Given the description of an element on the screen output the (x, y) to click on. 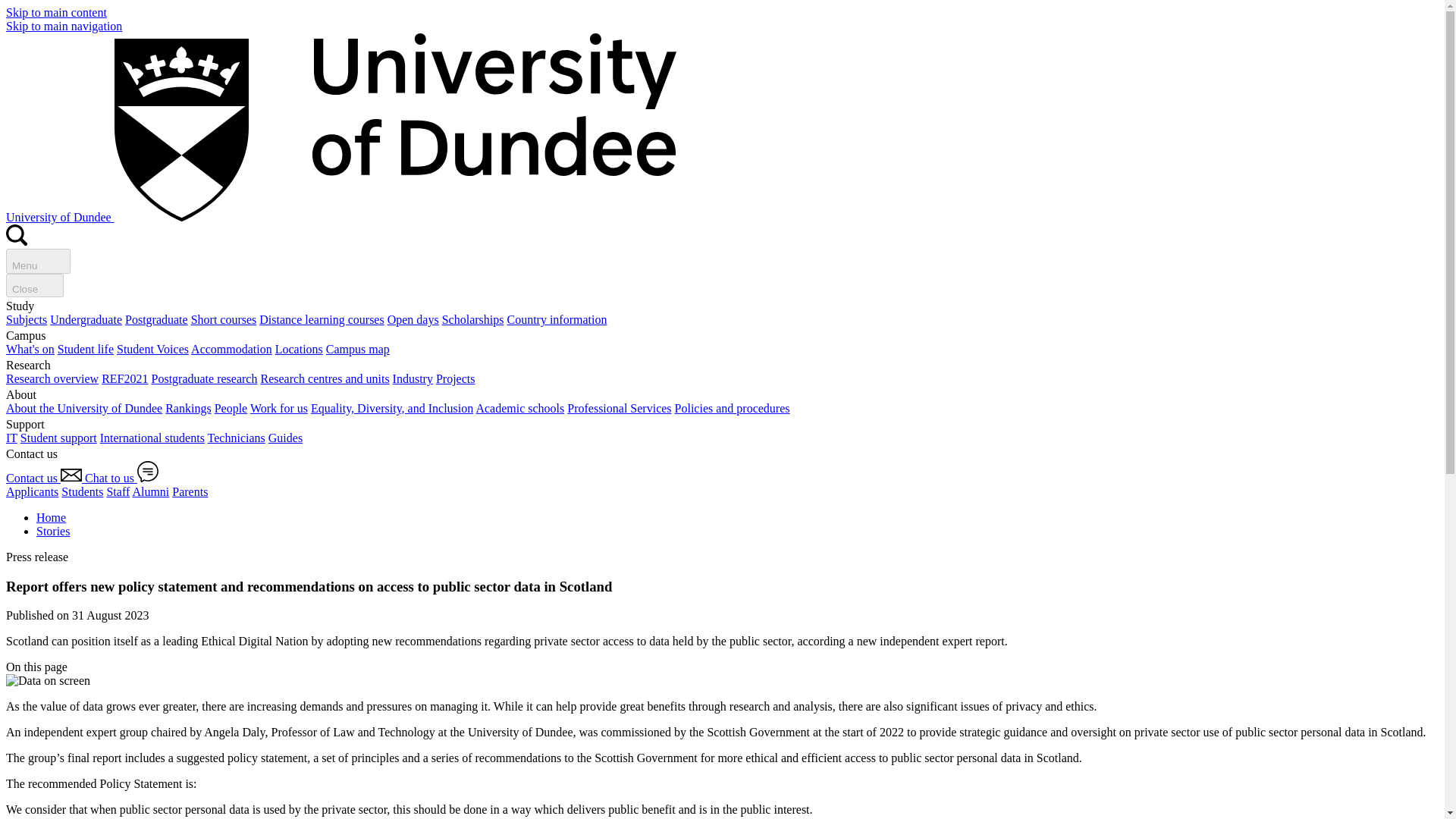
Research centres and units (324, 378)
Contact us (44, 477)
University of Dundee University of Dundee logo (341, 216)
Chevron pointing down (75, 667)
About the University of Dundee (83, 408)
About the University of Dundee (83, 408)
Research overview (52, 378)
Equality, Diversity, and Inclusion (392, 408)
Short courses (223, 318)
